Given the description of an element on the screen output the (x, y) to click on. 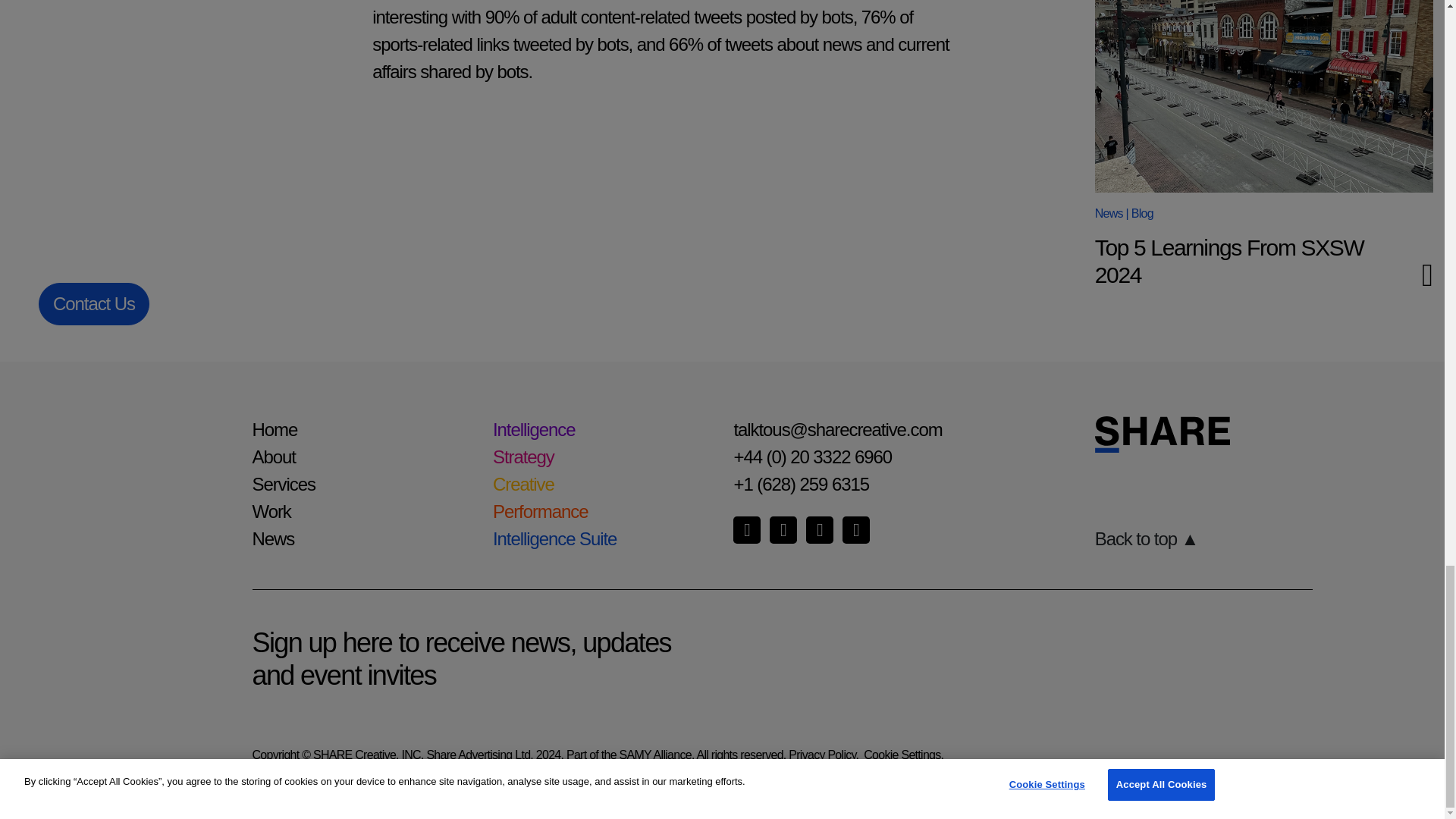
Blog (1142, 213)
Top 5 Learnings From SXSW 2024 (1229, 261)
News (1108, 213)
SHARE Creative (1263, 434)
Top 5 Learnings From SXSW 2024 (1263, 95)
Top 5 Learnings From SXSW 2024 (1229, 261)
